Given the description of an element on the screen output the (x, y) to click on. 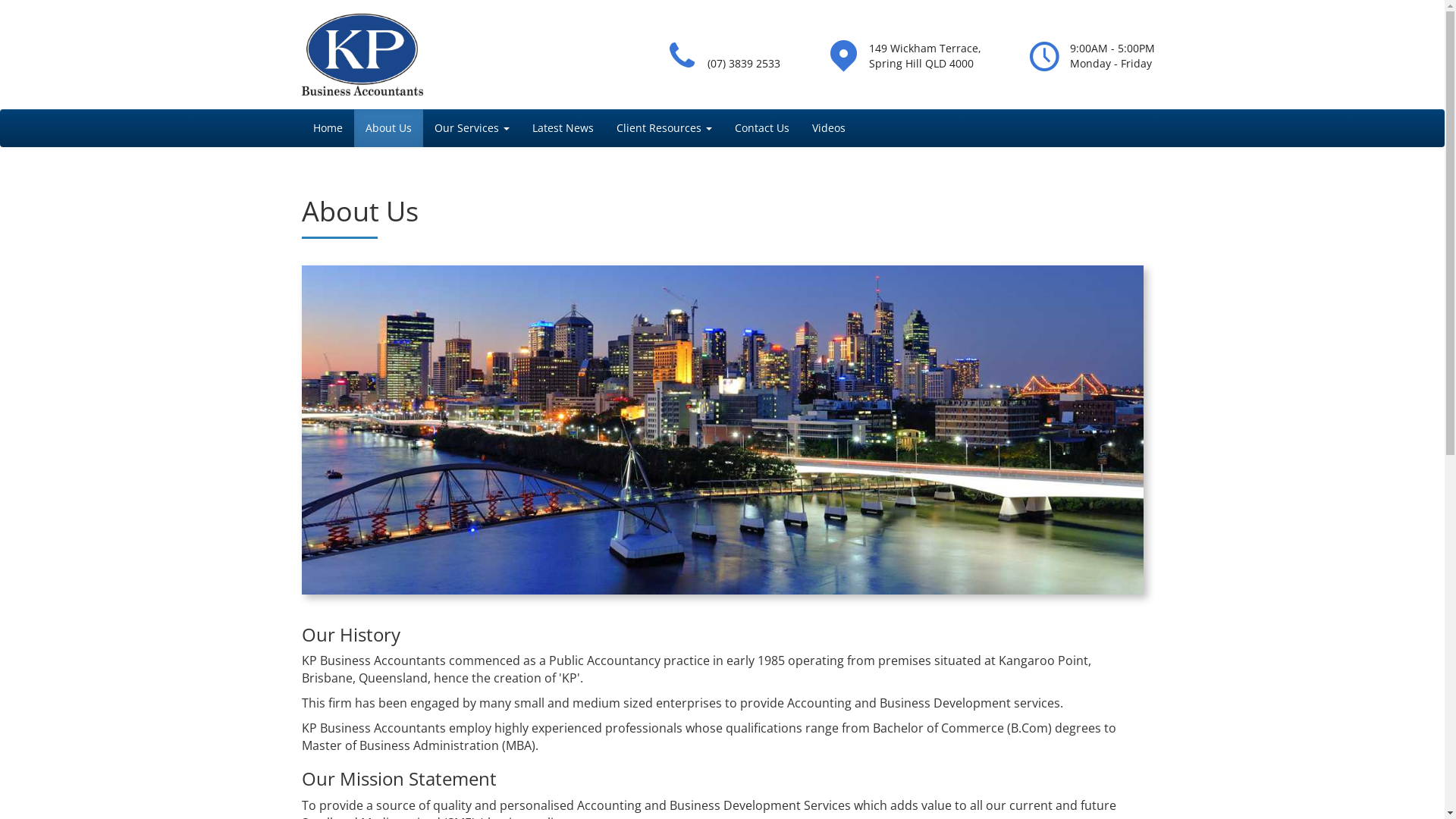
Latest News Element type: text (562, 128)
Contact Us Element type: text (761, 128)
About Us Element type: text (387, 128)
Home Element type: text (327, 128)
(07) 3839 2533 Element type: text (743, 63)
Client Resources Element type: text (664, 128)
Videos Element type: text (828, 128)
Our Services Element type: text (471, 128)
